Given the description of an element on the screen output the (x, y) to click on. 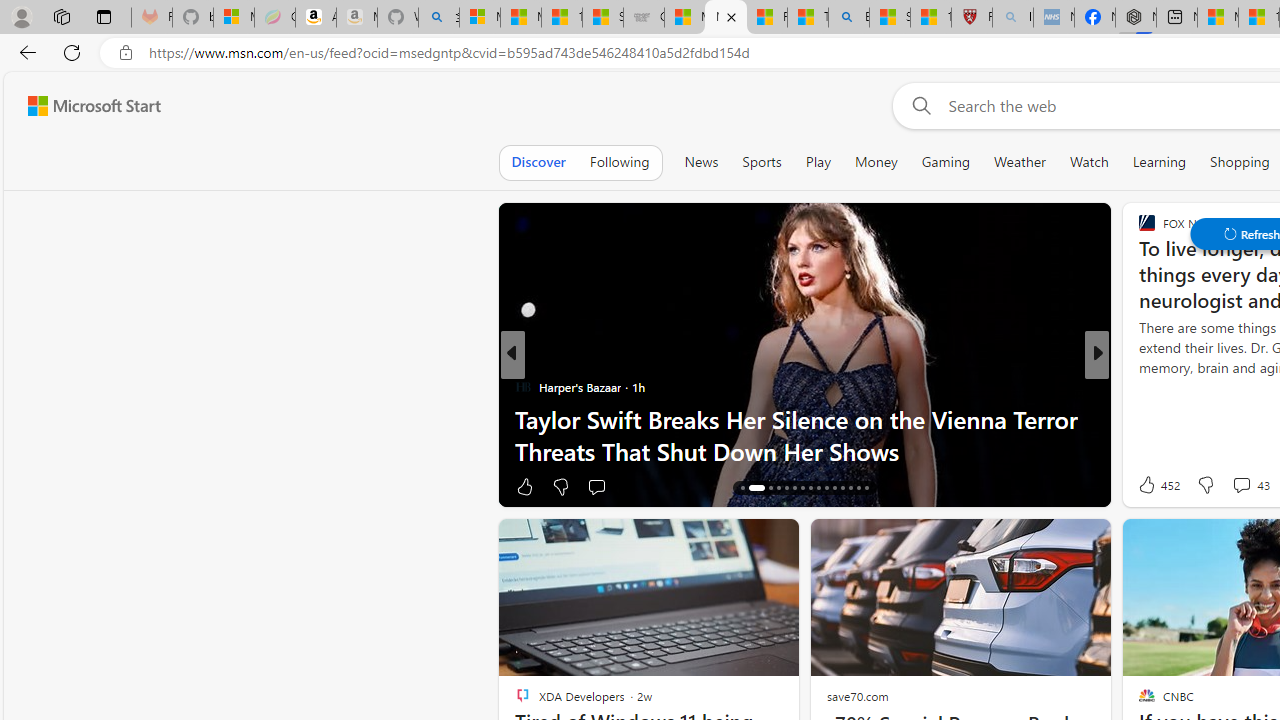
67 Like (1149, 486)
182 Like (1151, 486)
323 Like (1151, 486)
Shopping (1240, 161)
72 Like (1149, 486)
FOX News (1138, 386)
AutomationID: tab-21 (793, 487)
Savvy Dime (1138, 386)
AutomationID: tab-19 (778, 487)
